Given the description of an element on the screen output the (x, y) to click on. 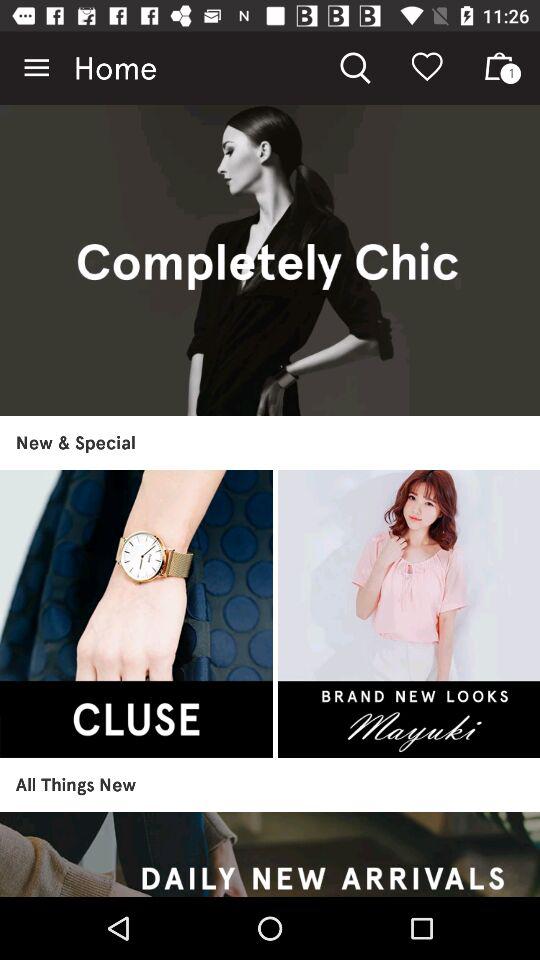
select the item at the top left corner (36, 68)
